Given the description of an element on the screen output the (x, y) to click on. 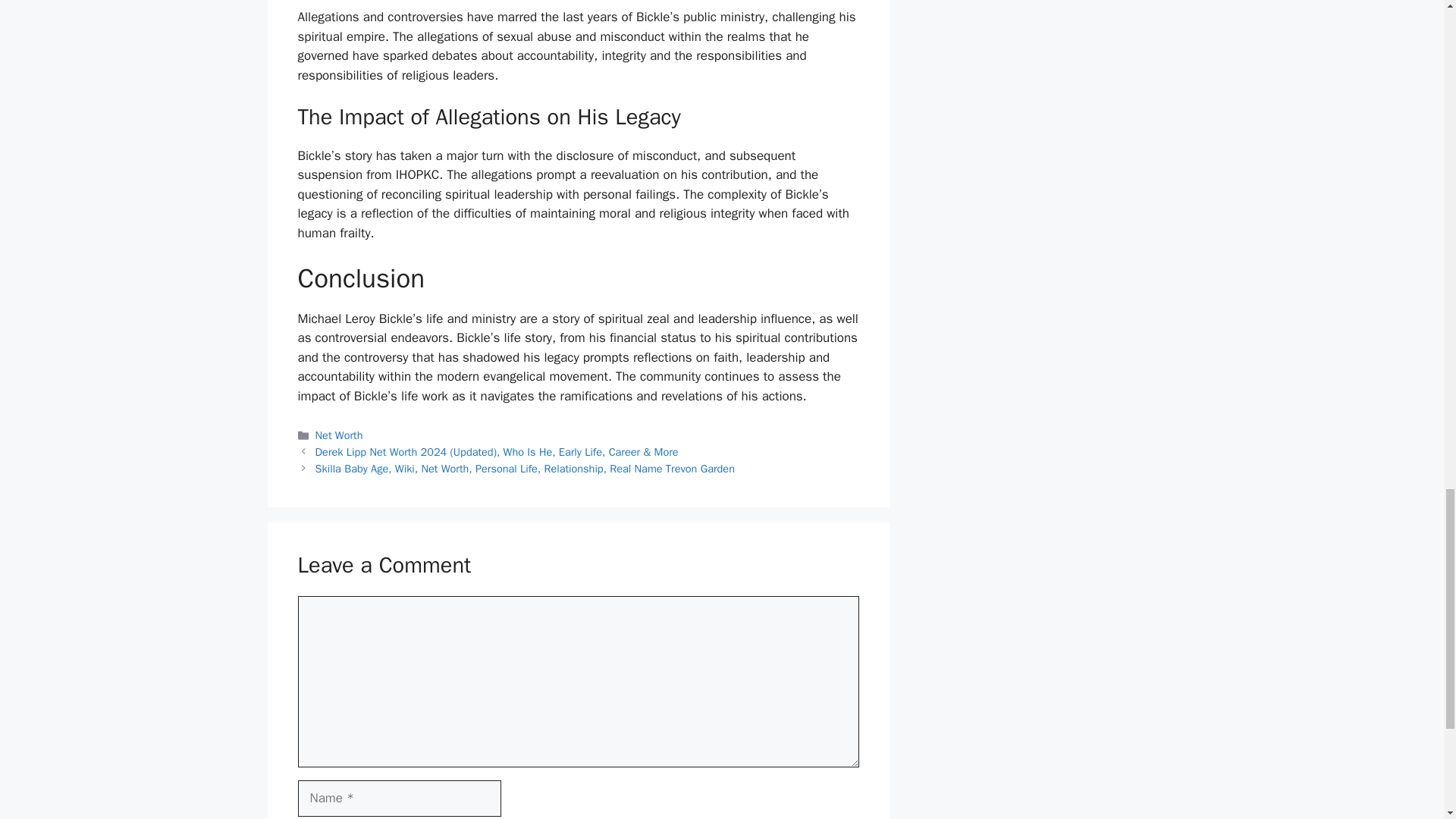
Net Worth (338, 435)
